Given the description of an element on the screen output the (x, y) to click on. 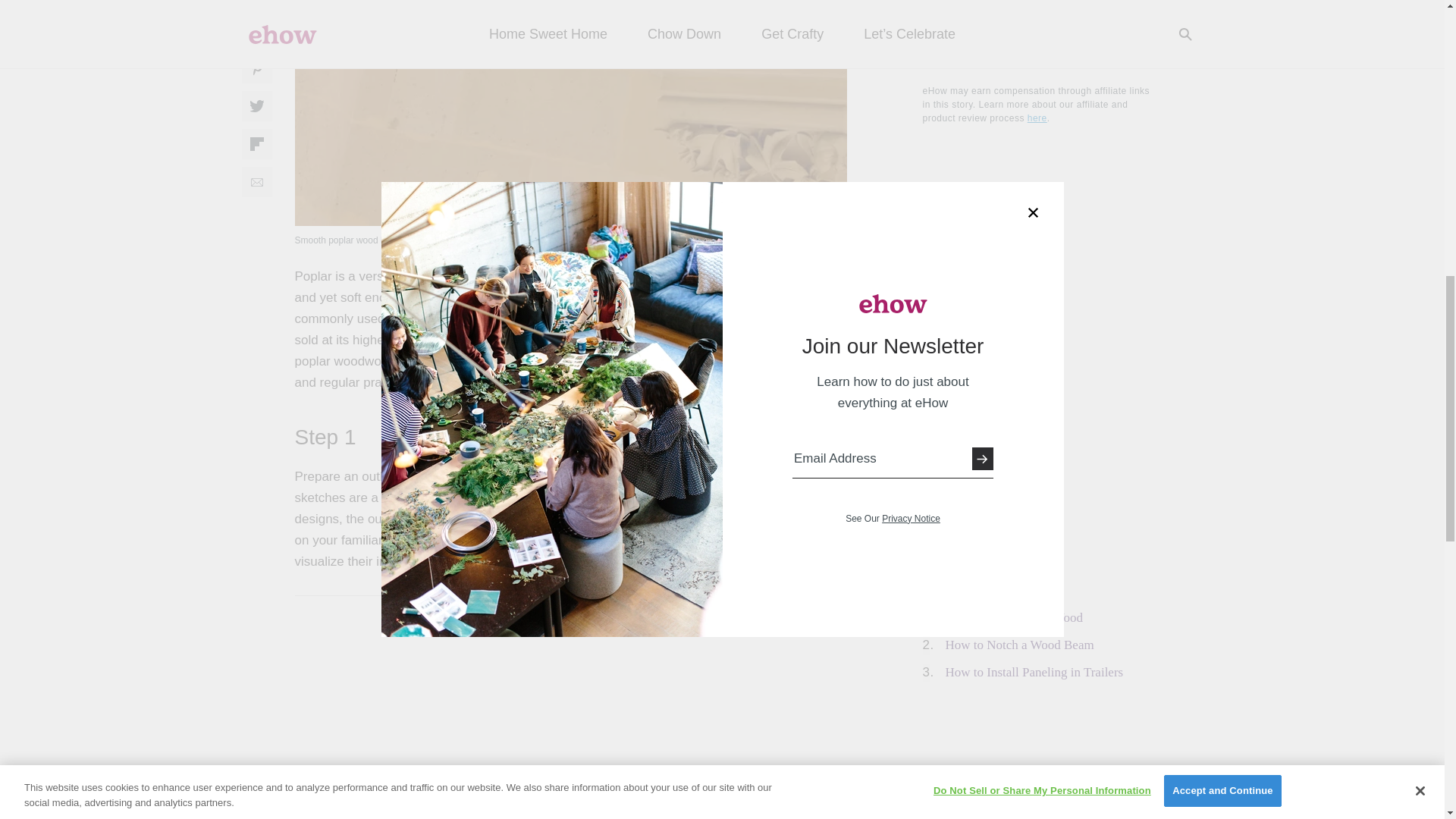
How to Carve Balsa Wood (1013, 617)
How to Install Paneling in Trailers (1033, 672)
How to Notch a Wood Beam (1018, 644)
3rd party ad content (1035, 753)
